Given the description of an element on the screen output the (x, y) to click on. 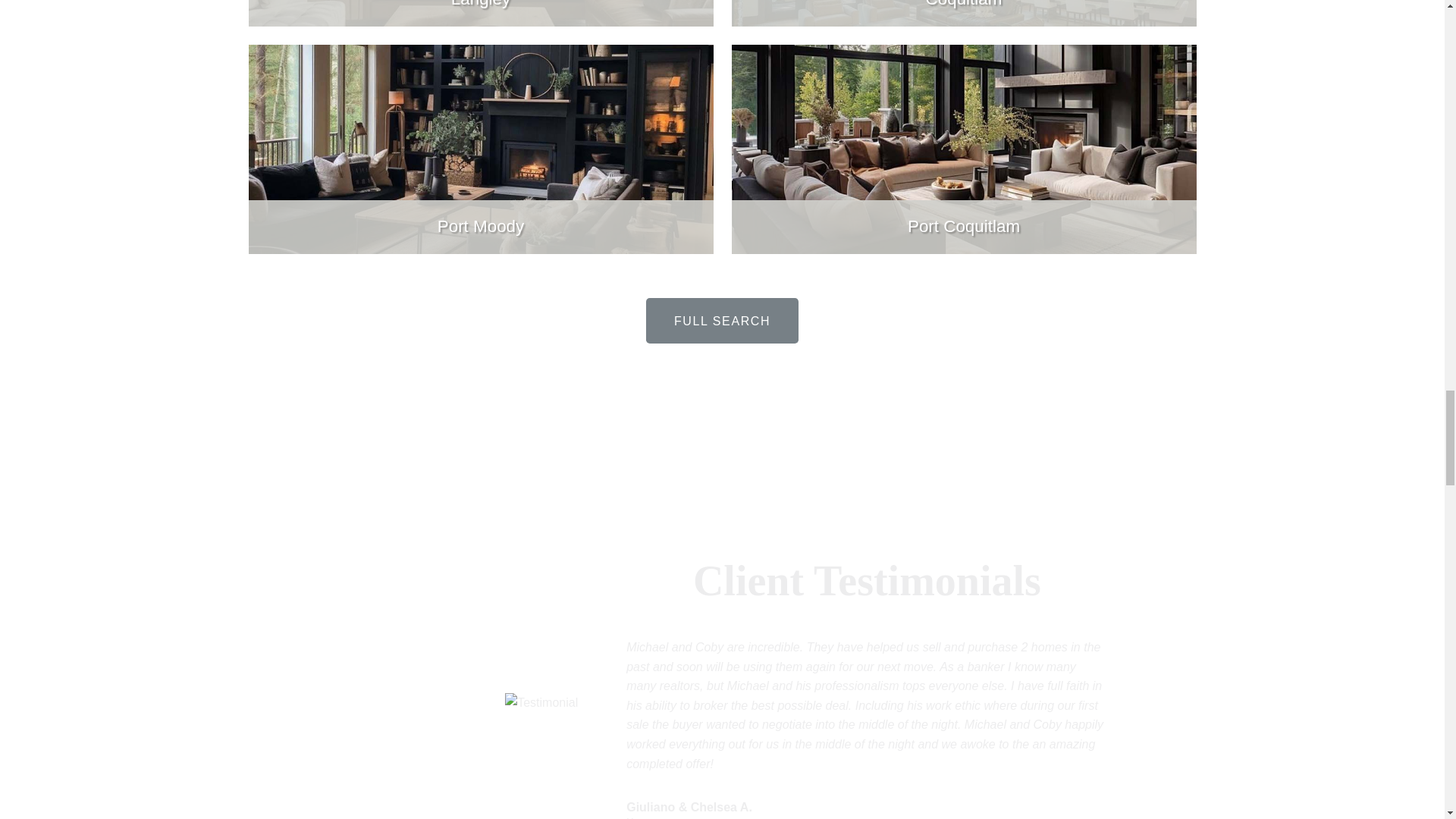
FULL SEARCH (721, 320)
